Given the description of an element on the screen output the (x, y) to click on. 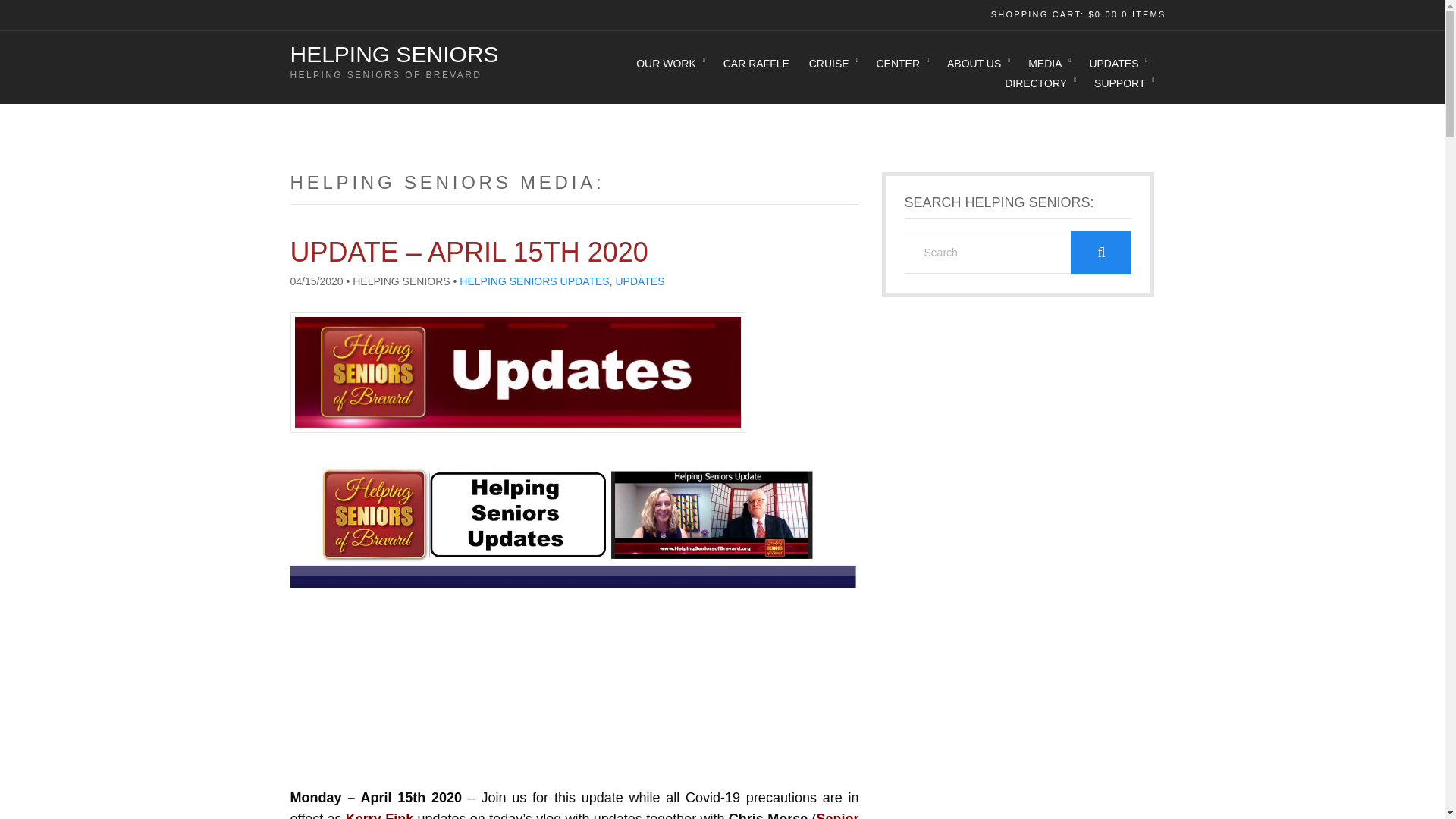
Our Media (1048, 63)
Our Directory (1039, 83)
Our Updates (1117, 63)
